Given the description of an element on the screen output the (x, y) to click on. 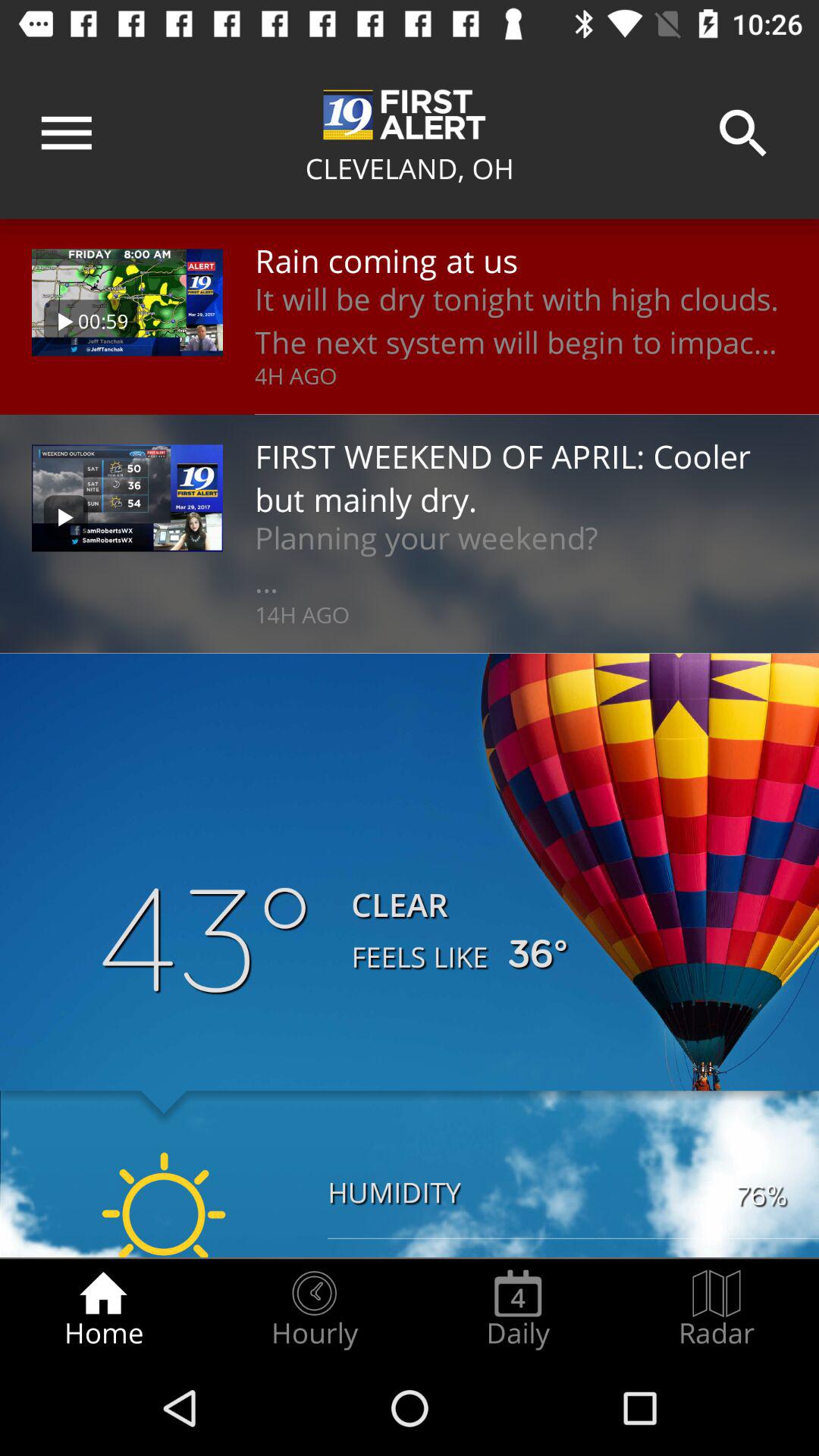
swipe to the home icon (103, 1309)
